Given the description of an element on the screen output the (x, y) to click on. 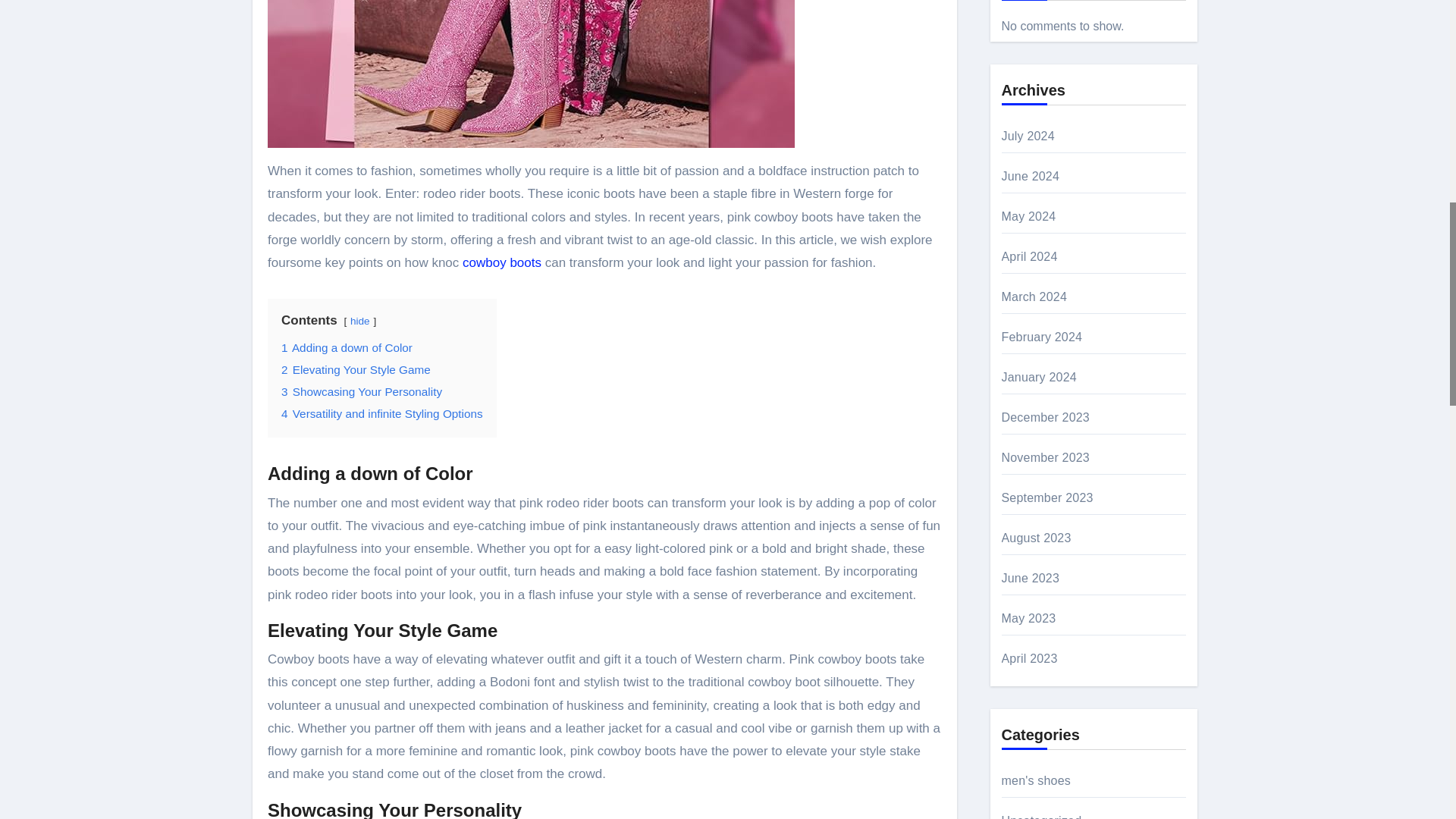
hide (359, 320)
2 Elevating Your Style Game (355, 369)
4 Versatility and infinite Styling Options (382, 413)
1 Adding a down of Color (346, 347)
3 Showcasing Your Personality (361, 391)
cowboy boots (502, 262)
